Given the description of an element on the screen output the (x, y) to click on. 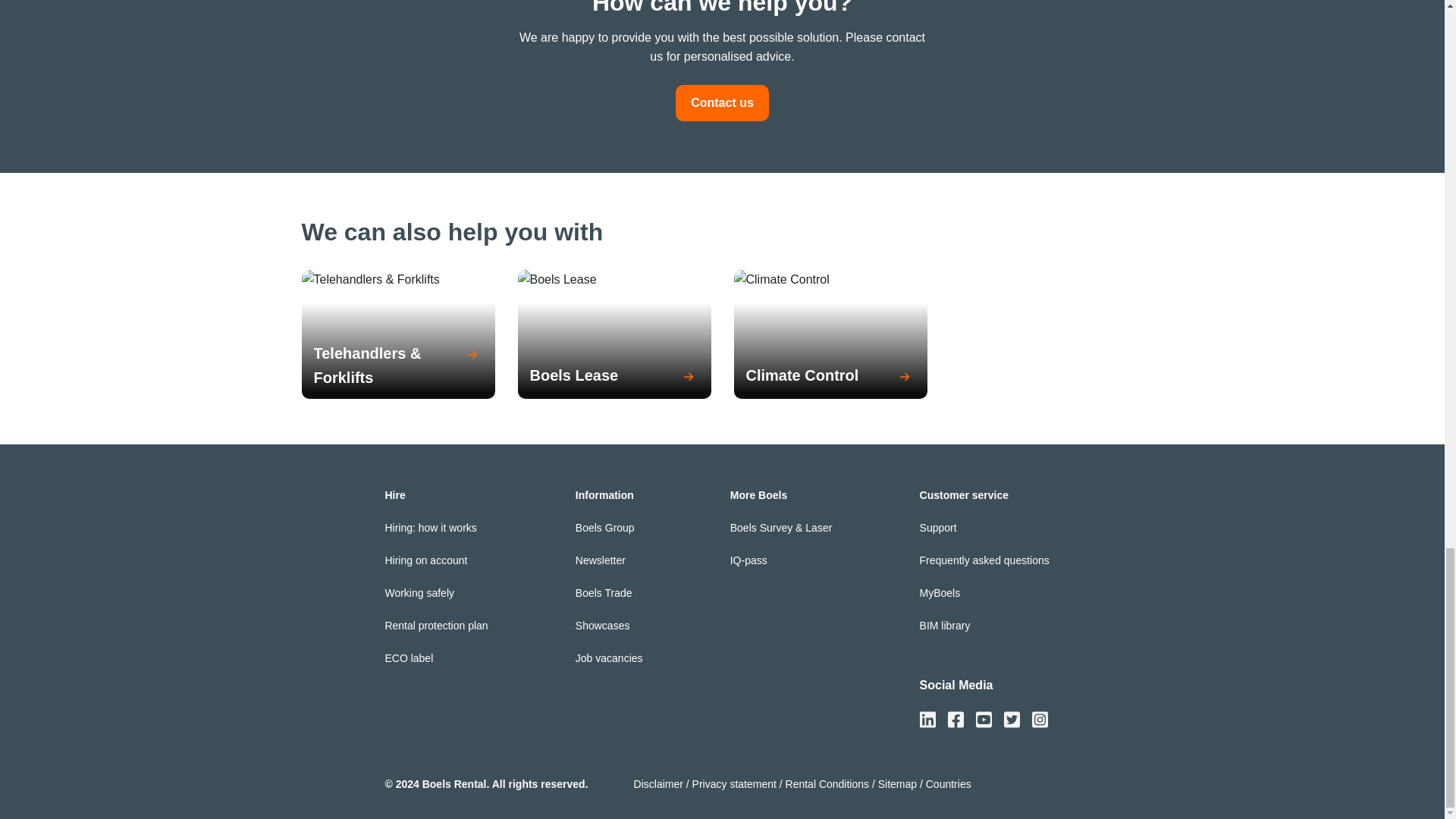
Working safely (419, 592)
Boels Lease (613, 376)
Hiring: how it works (430, 527)
Hiring on account (425, 560)
Contact us (721, 103)
Climate Control (830, 376)
